Given the description of an element on the screen output the (x, y) to click on. 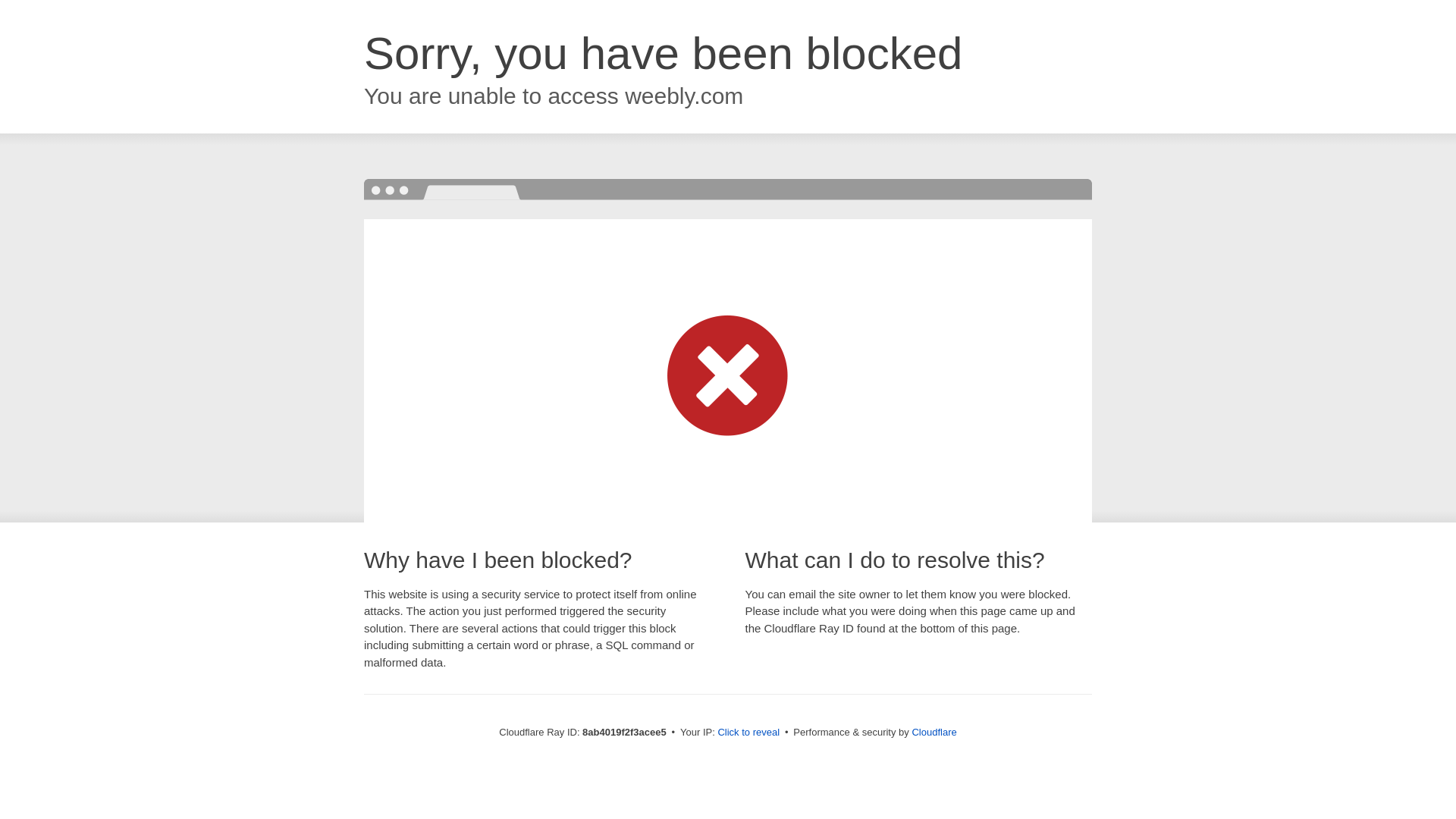
Click to reveal (747, 732)
Cloudflare (933, 731)
